Given the description of an element on the screen output the (x, y) to click on. 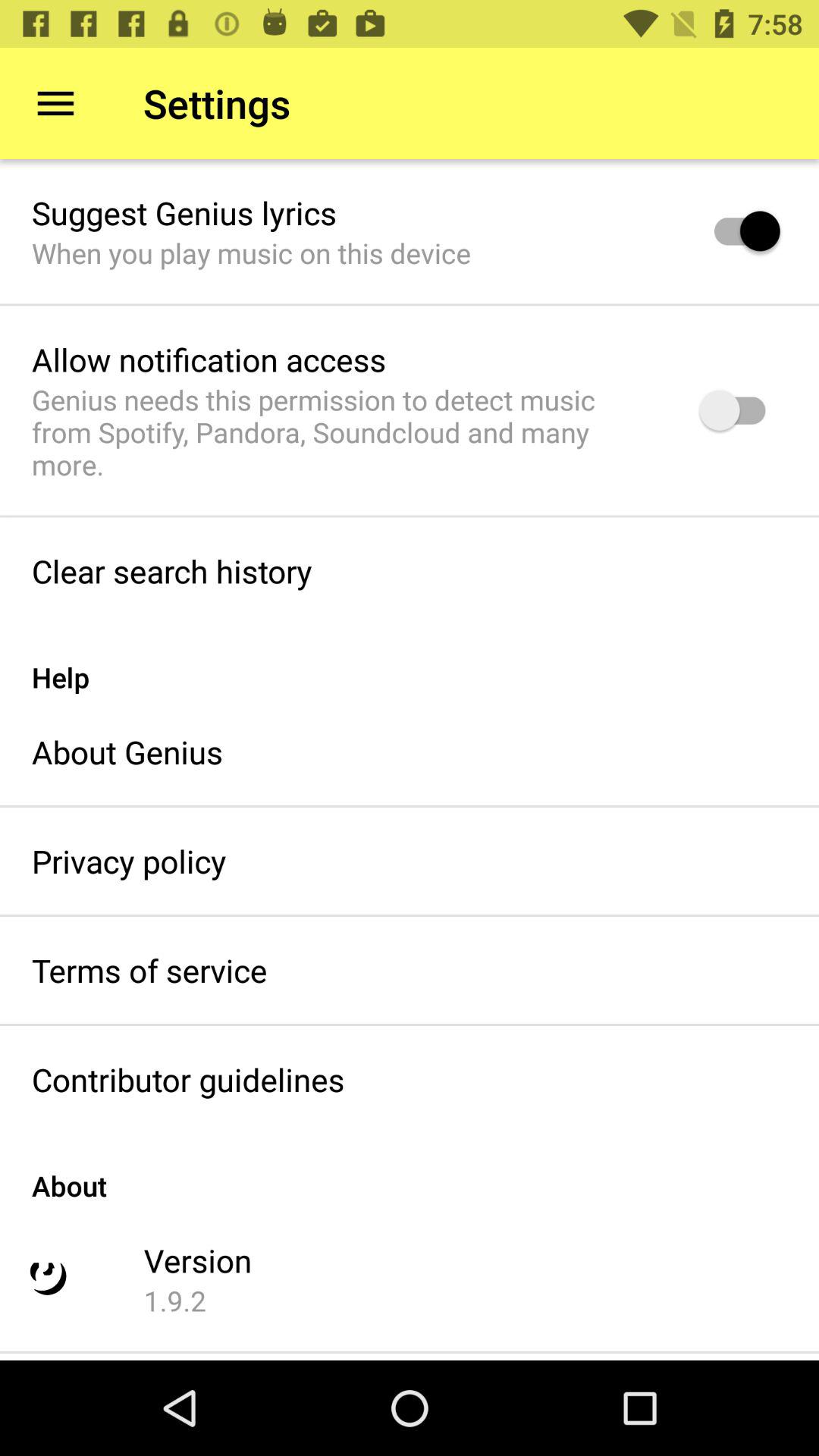
select the item above the help icon (171, 570)
